Given the description of an element on the screen output the (x, y) to click on. 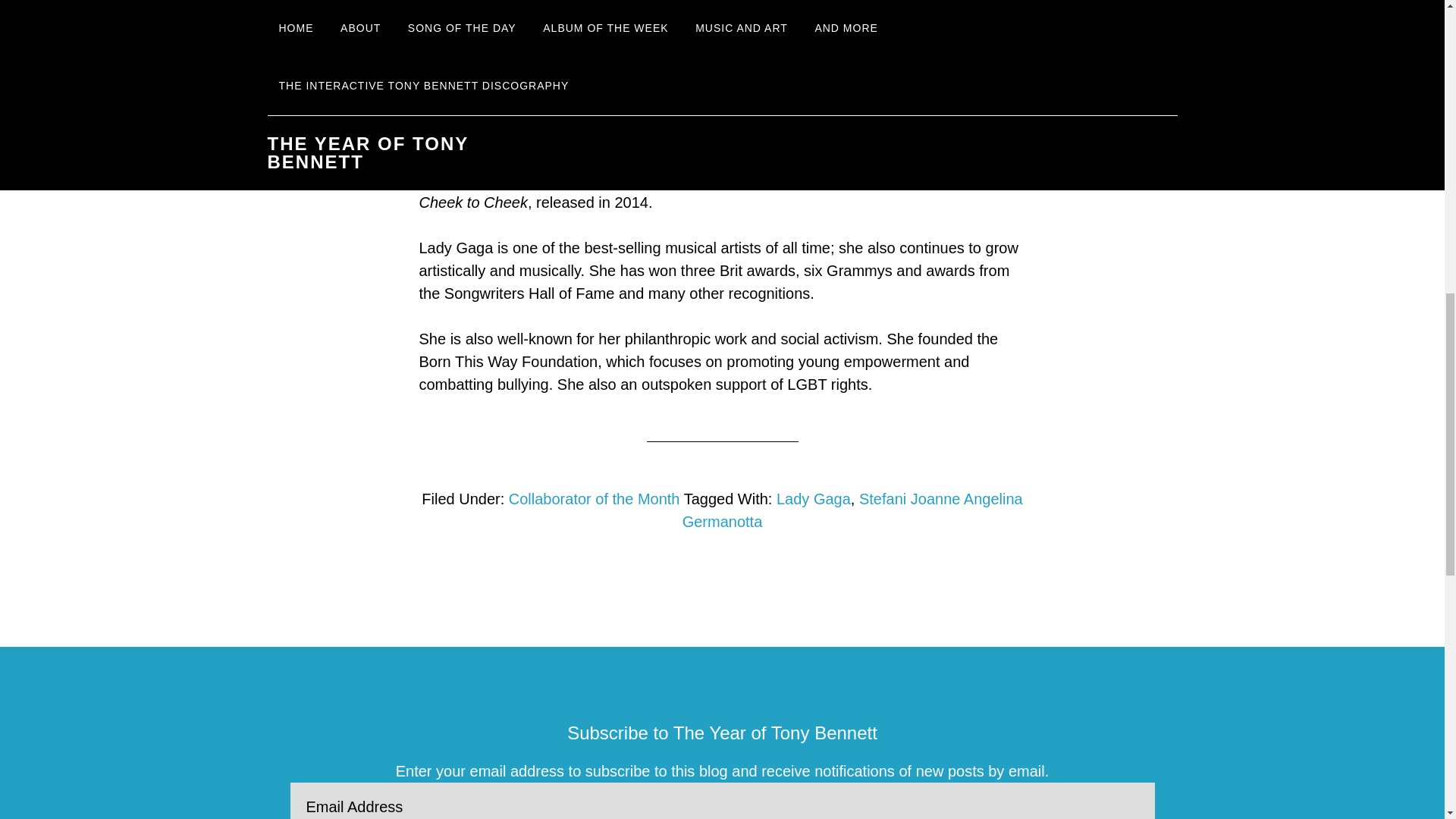
Lady Gaga (813, 498)
Stefani Joanne Angelina Germanotta (852, 509)
Collaborator of the Month (593, 498)
